Given the description of an element on the screen output the (x, y) to click on. 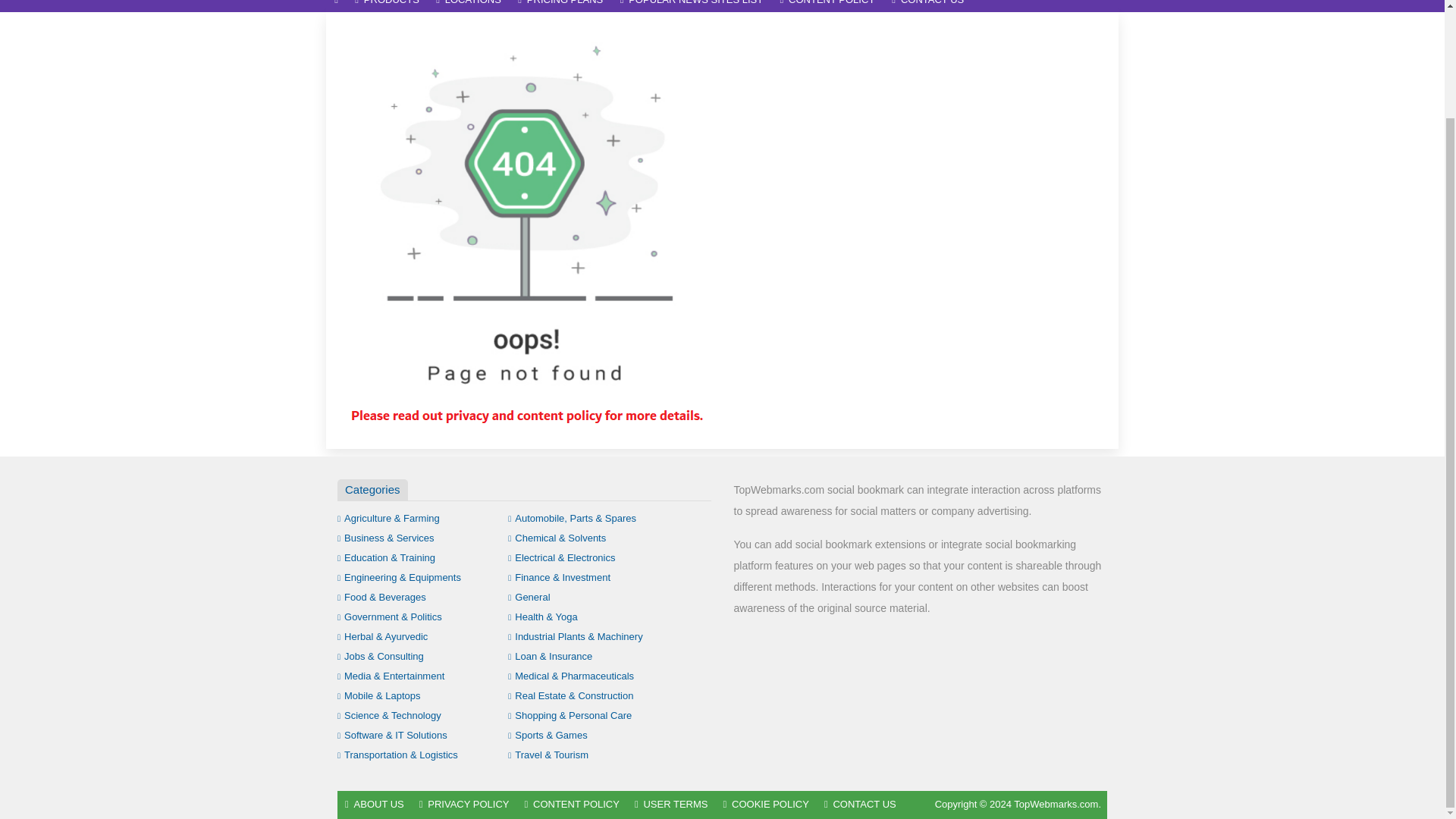
HOME (336, 6)
POPULAR NEWS SITES LIST (691, 6)
LOCATIONS (468, 6)
PRICING PLANS (560, 6)
PRODUCTS (387, 6)
CONTENT POLICY (827, 6)
General (529, 596)
CONTACT US (927, 6)
